Given the description of an element on the screen output the (x, y) to click on. 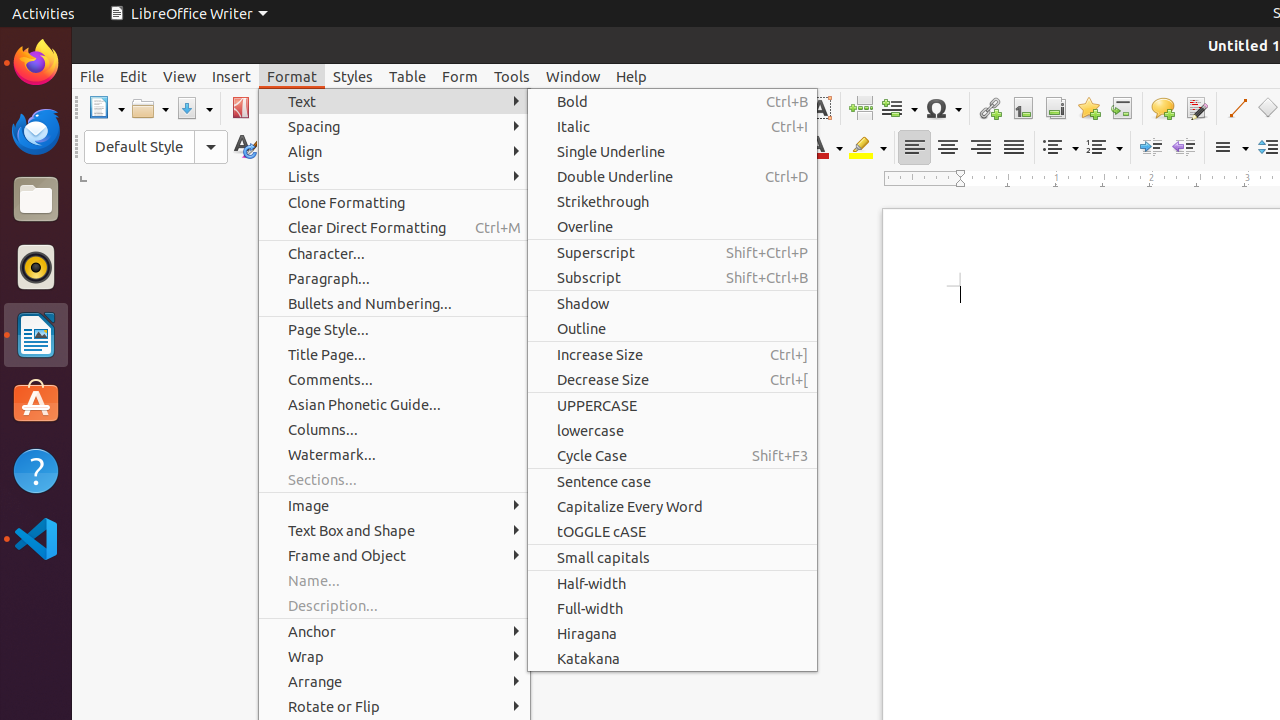
Symbol Element type: push-button (943, 108)
Watermark... Element type: menu-item (394, 454)
Rotate or Flip Element type: menu (394, 706)
Increase Size Element type: menu-item (672, 354)
Subscript Element type: toggle-button (736, 147)
